Given the description of an element on the screen output the (x, y) to click on. 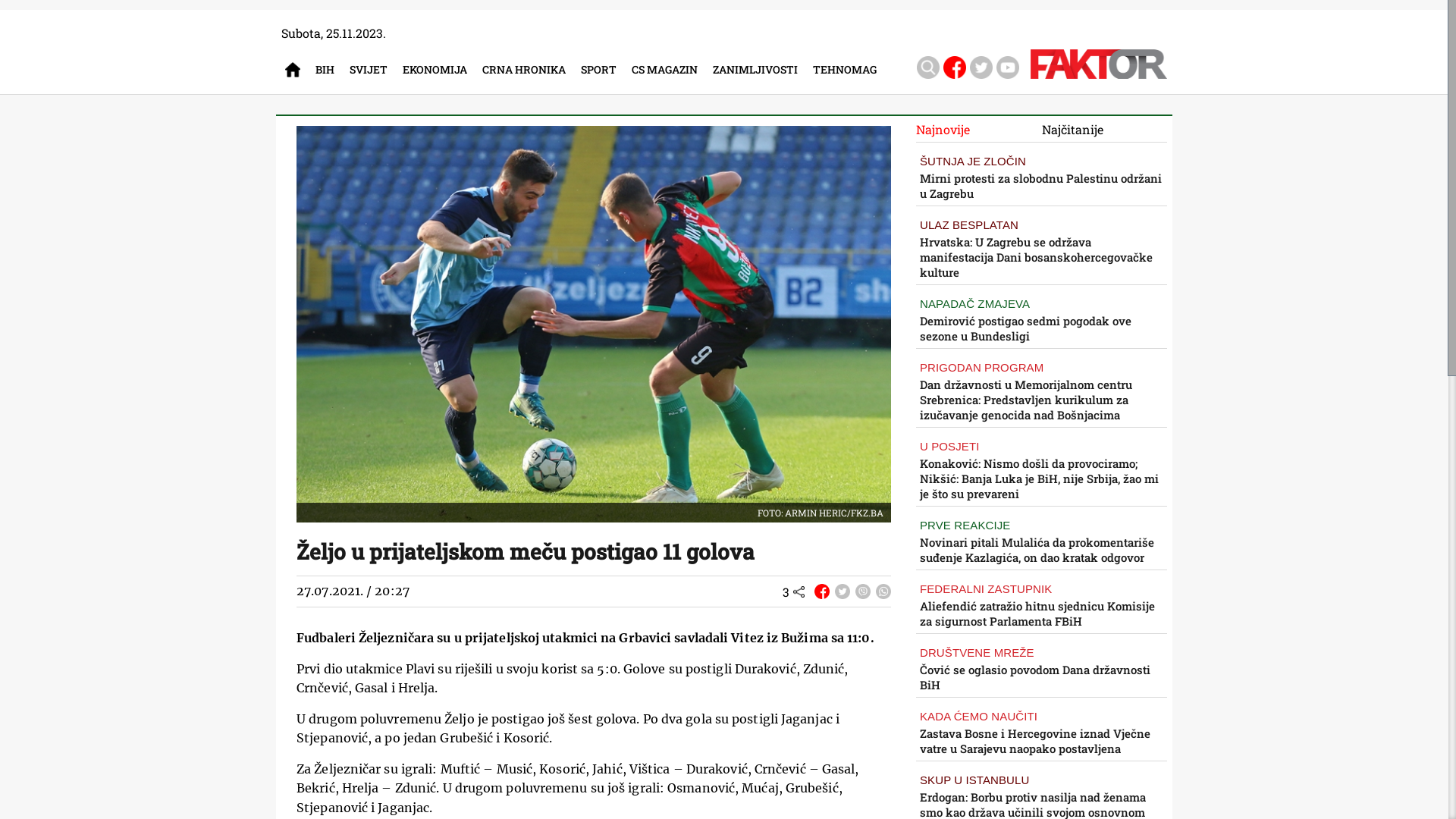
CS MAGAZIN Element type: text (668, 69)
SVIJET Element type: text (372, 69)
ZANIMLJIVOSTI Element type: text (758, 69)
BIH Element type: text (328, 69)
EKONOMIJA Element type: text (438, 69)
CRNA HRONIKA Element type: text (527, 69)
TEHNOMAG Element type: text (848, 69)
SPORT Element type: text (602, 69)
